Given the description of an element on the screen output the (x, y) to click on. 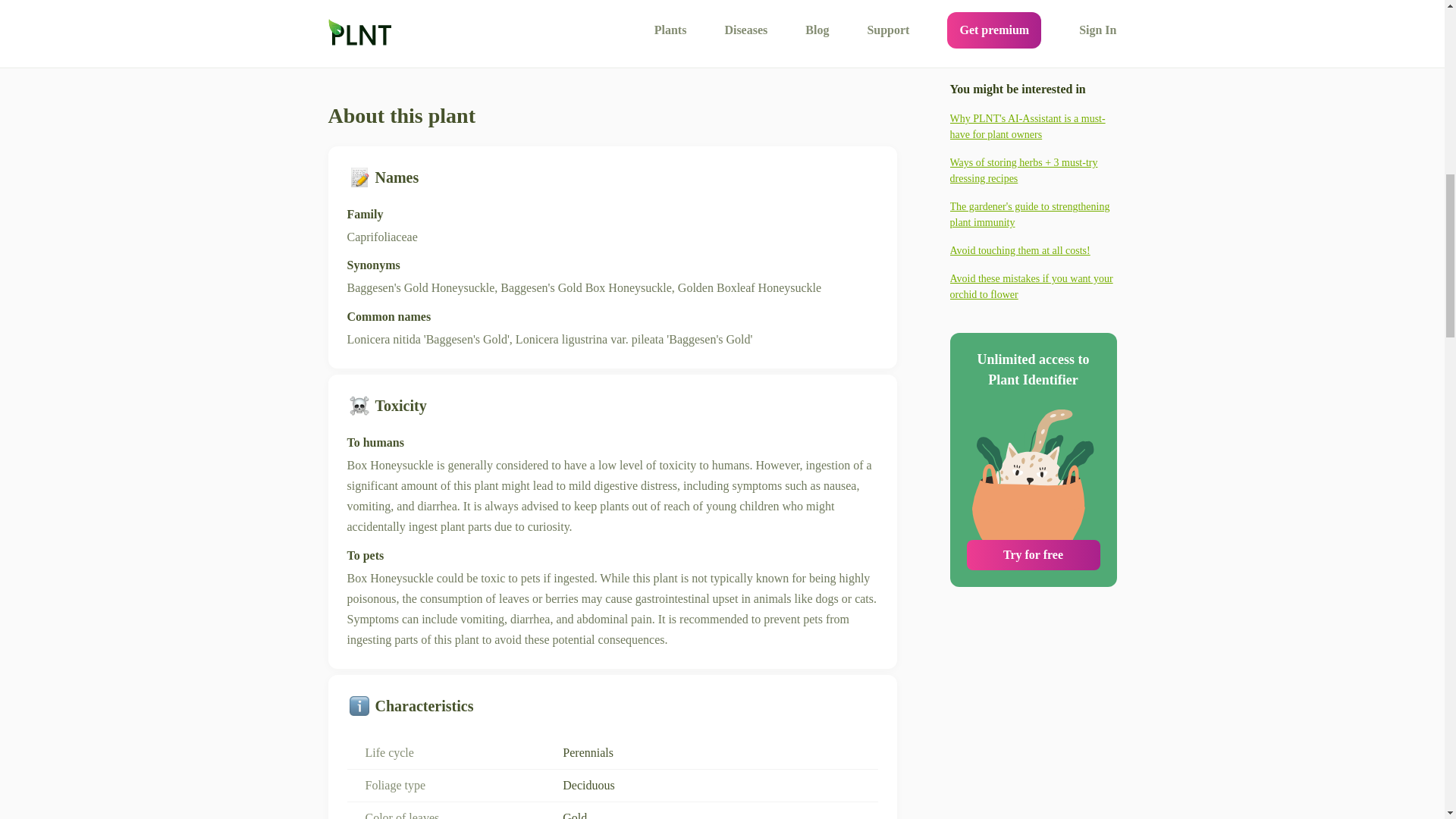
Try for free (1032, 495)
Why PLNT's AI-Assistant is a must-have for plant owners (1032, 67)
Avoid these mistakes if you want your orchid to flower (1032, 227)
Avoid touching them at all costs! (1032, 191)
The gardener's guide to strengthening plant immunity (1032, 155)
